Given the description of an element on the screen output the (x, y) to click on. 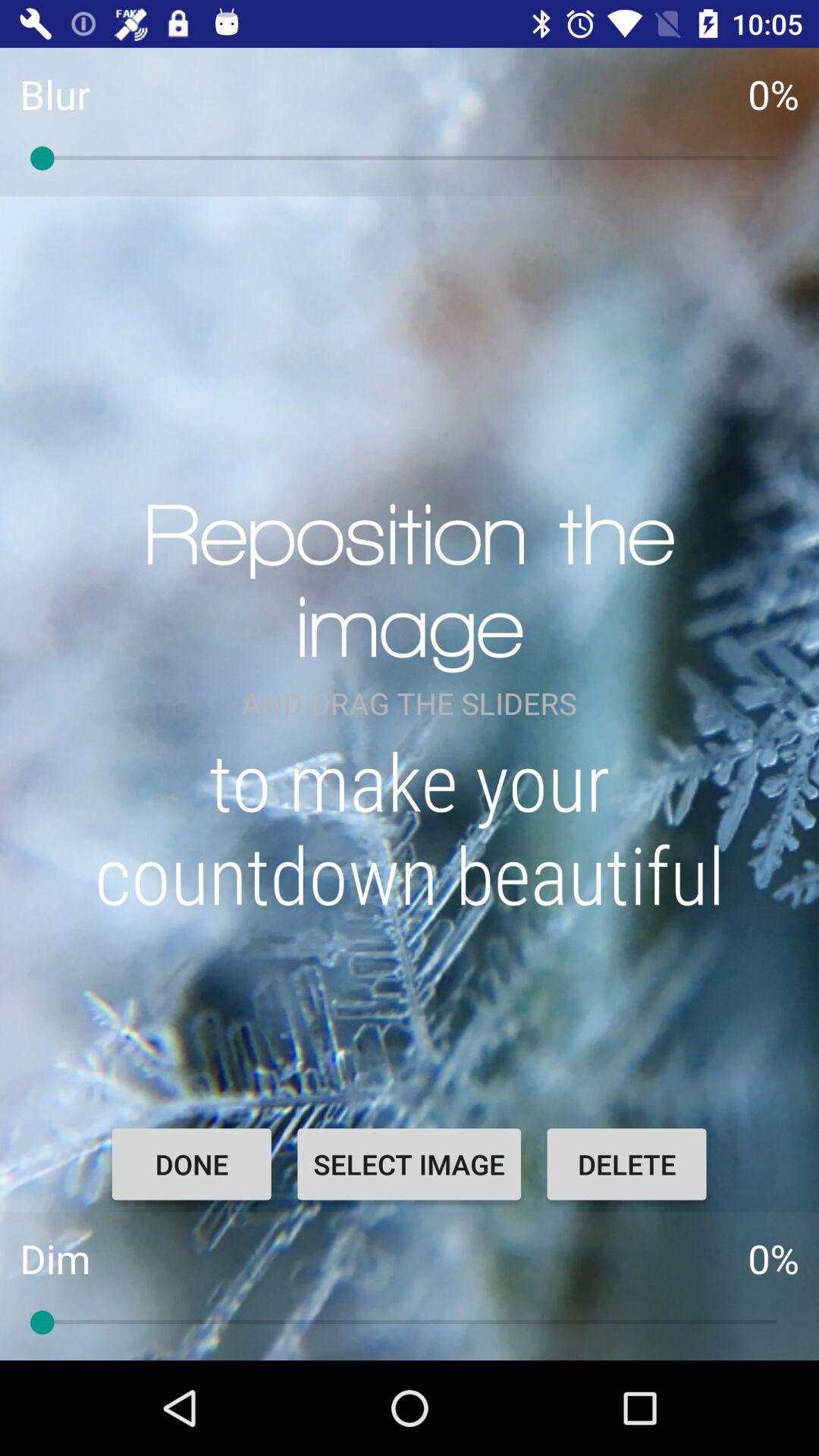
flip to select image (408, 1164)
